Given the description of an element on the screen output the (x, y) to click on. 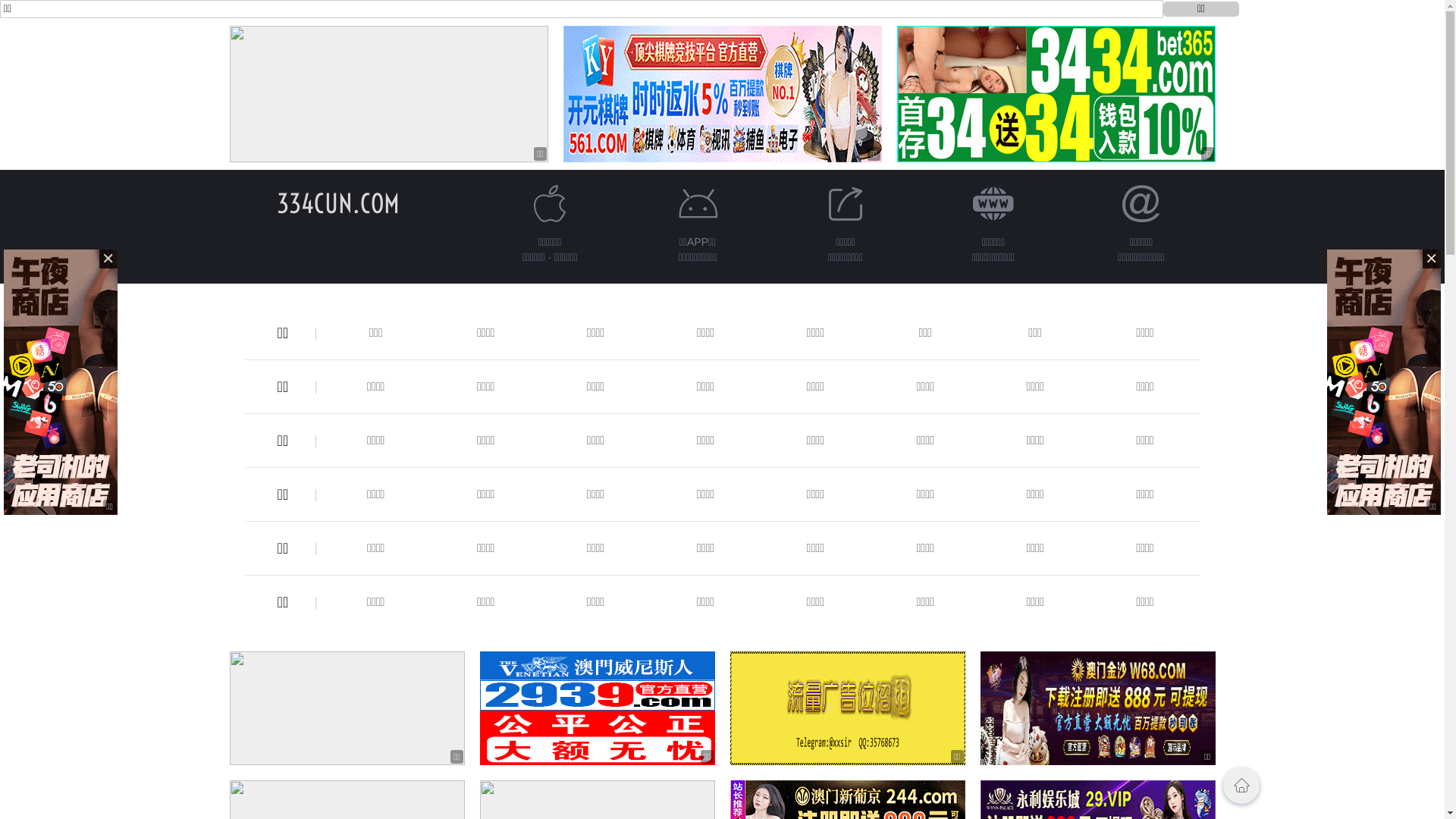
334CUN.COM Element type: text (337, 203)
